Given the description of an element on the screen output the (x, y) to click on. 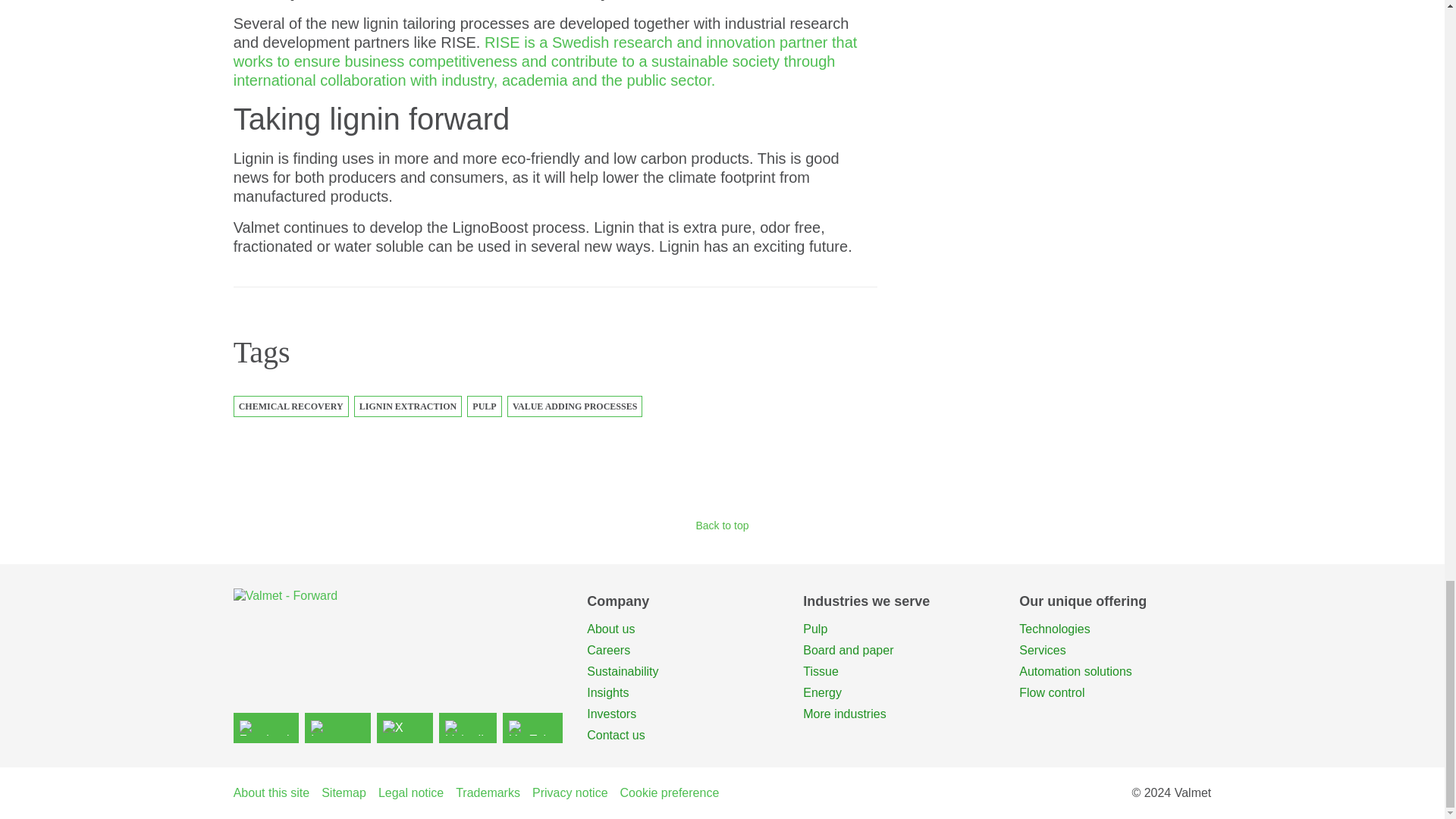
YouTube (532, 727)
Valmet - Forward (397, 613)
LinkedIn (468, 727)
Facebook (265, 727)
Instagram (337, 727)
